Given the description of an element on the screen output the (x, y) to click on. 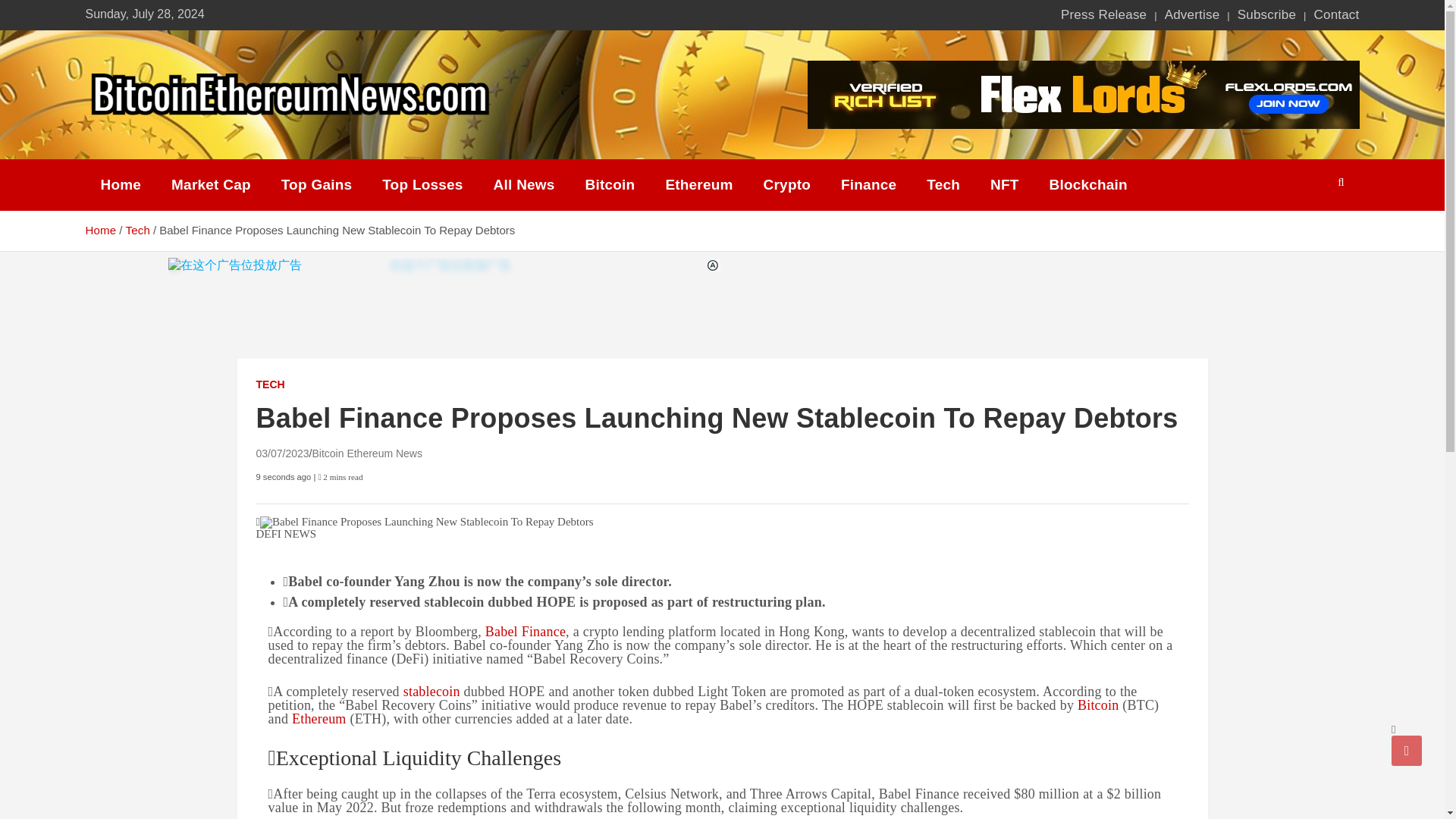
NFT News Articles (1004, 184)
Home (100, 229)
Crypto News Articles (786, 184)
Advertise (1192, 14)
Top Losses (421, 184)
Babel Finan (518, 631)
NFT (1004, 184)
All News Articles (524, 184)
stablecoin (431, 691)
All News (524, 184)
Crypto (786, 184)
Blockchain (1087, 184)
Tech (943, 184)
